Given the description of an element on the screen output the (x, y) to click on. 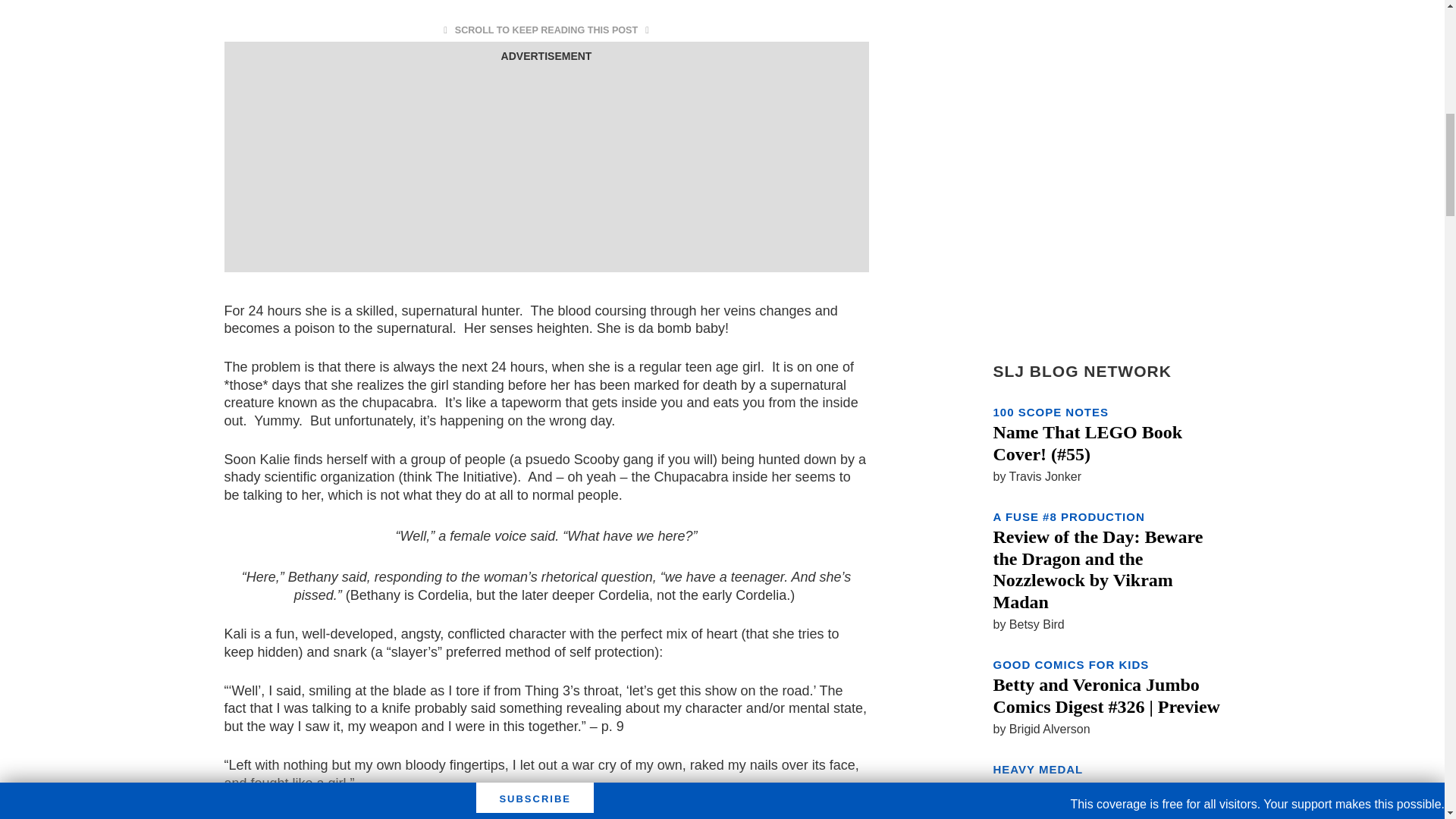
SCROLL TO KEEP READING THIS POST (546, 29)
3rd party ad content (545, 162)
